Given the description of an element on the screen output the (x, y) to click on. 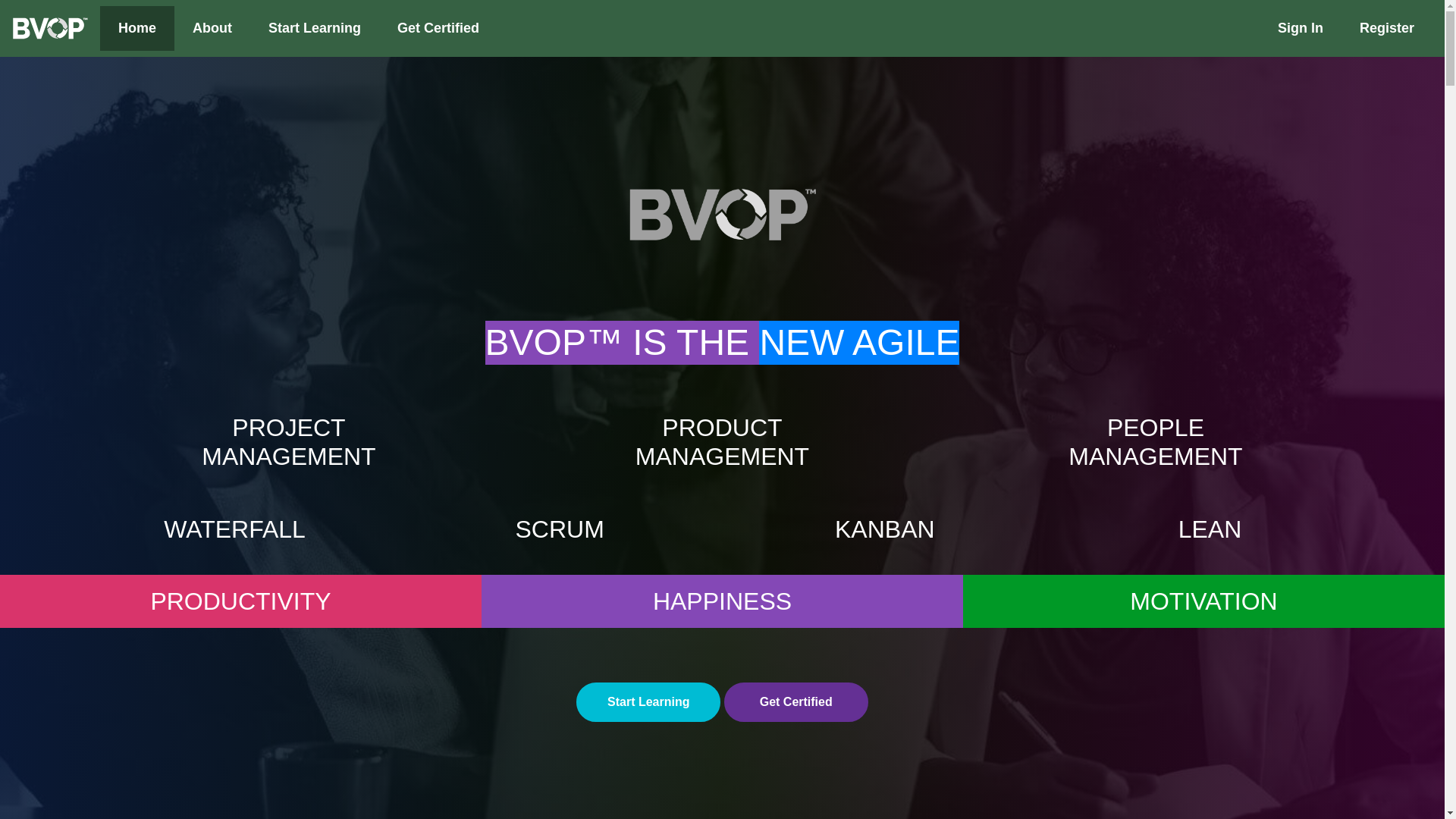
About (212, 28)
Start Learning (314, 28)
Get Certified (795, 701)
Sign In (1299, 28)
Register (1386, 28)
Get Certified (437, 28)
Start Learning (648, 701)
